Given the description of an element on the screen output the (x, y) to click on. 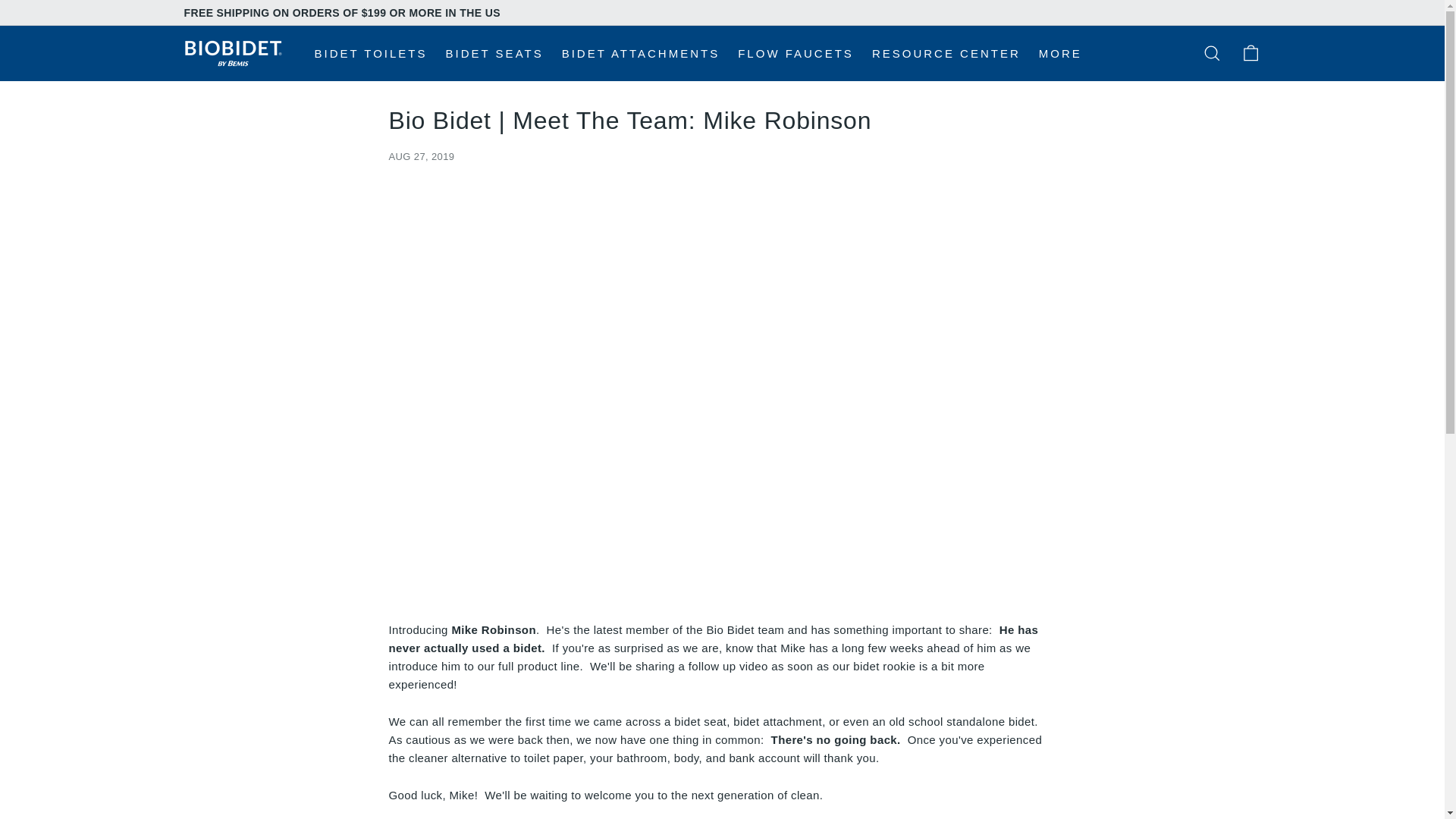
BIDET ATTACHMENTS (641, 52)
BIDET TOILETS (369, 52)
BIDET SEATS (494, 52)
MORE (1059, 52)
RESOURCE CENTER (946, 52)
FLOW FAUCETS (796, 52)
